Given the description of an element on the screen output the (x, y) to click on. 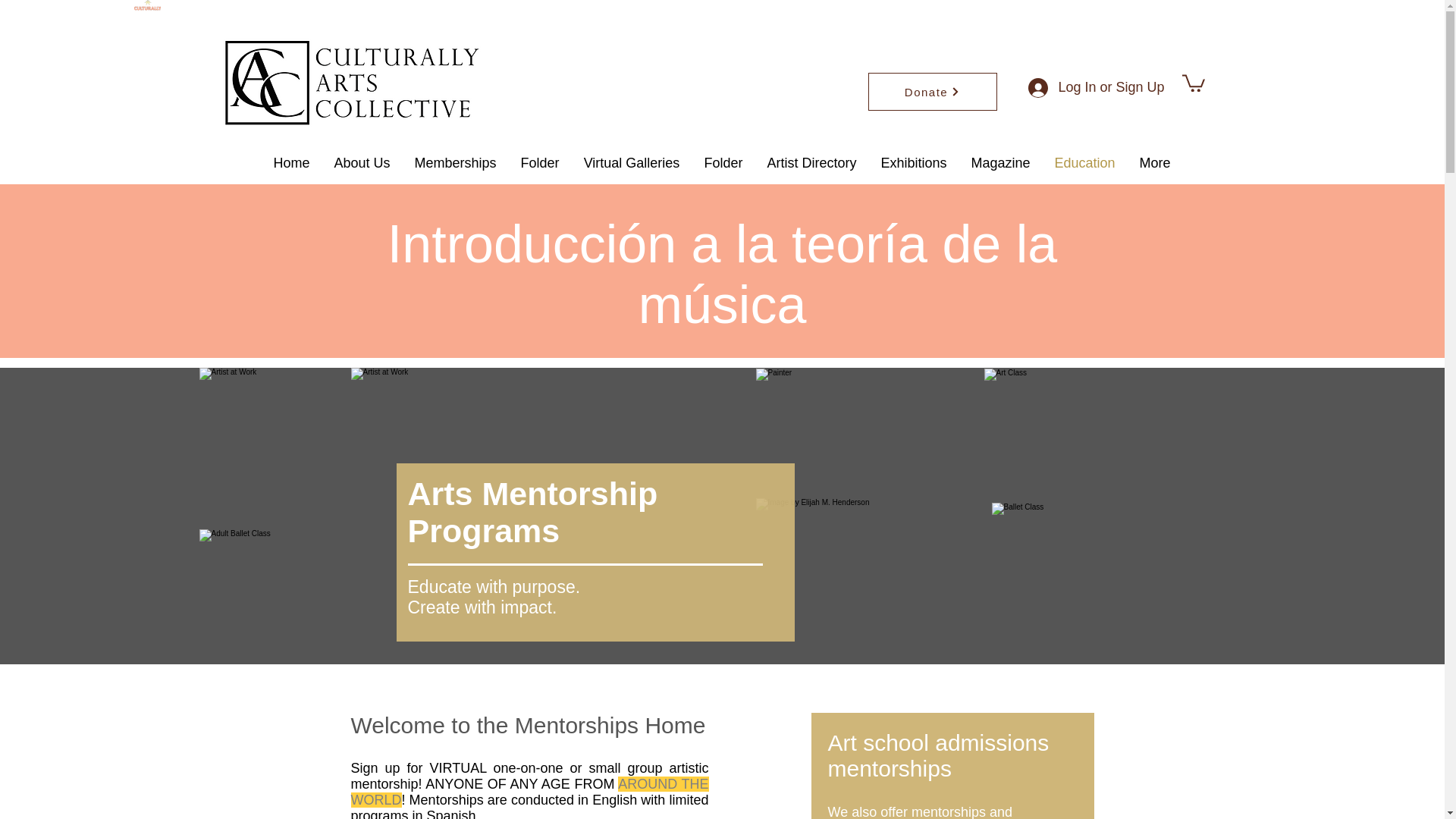
Exhibitions (914, 163)
Home (290, 163)
Magazine (1000, 163)
About Us (361, 163)
Artist Directory (812, 163)
Memberships (454, 163)
Donate (931, 91)
Log In or Sign Up (1092, 87)
Education (1084, 163)
